Given the description of an element on the screen output the (x, y) to click on. 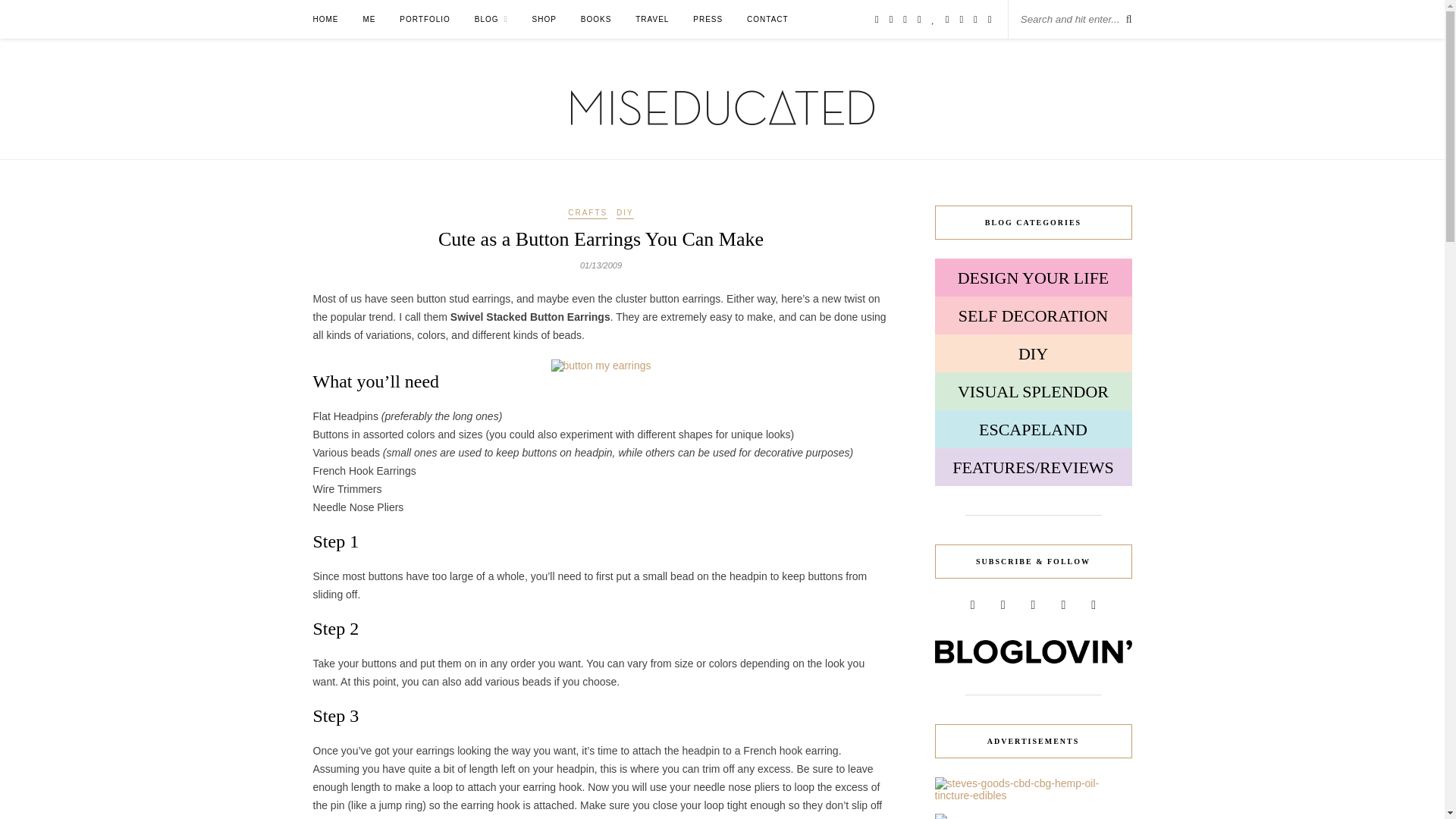
View all posts in DIY (624, 213)
CRAFTS (587, 213)
View all posts in Crafts (587, 213)
PORTFOLIO (423, 19)
CONTACT (767, 19)
